Given the description of an element on the screen output the (x, y) to click on. 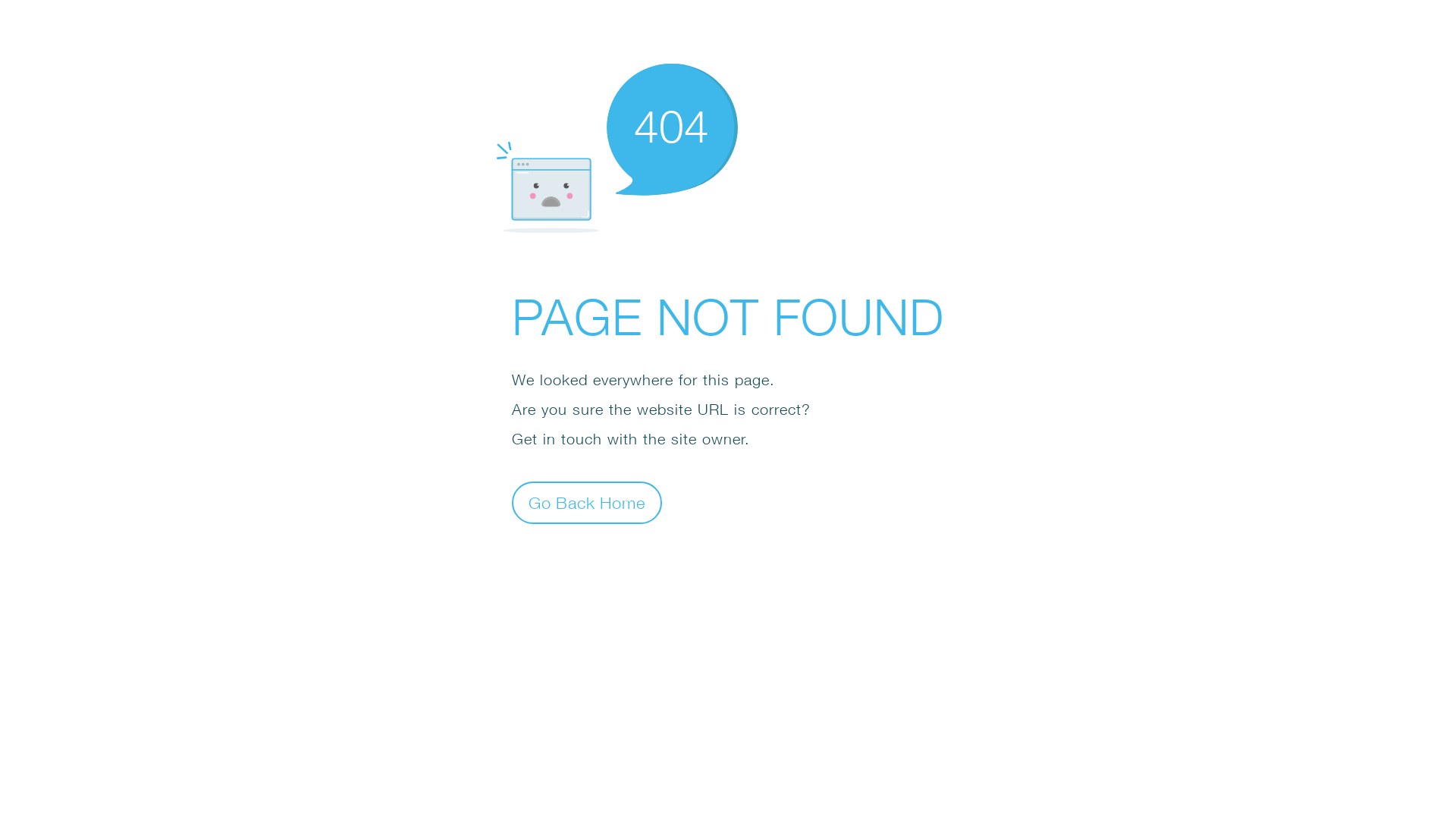
Go Back Home Element type: text (586, 502)
